Given the description of an element on the screen output the (x, y) to click on. 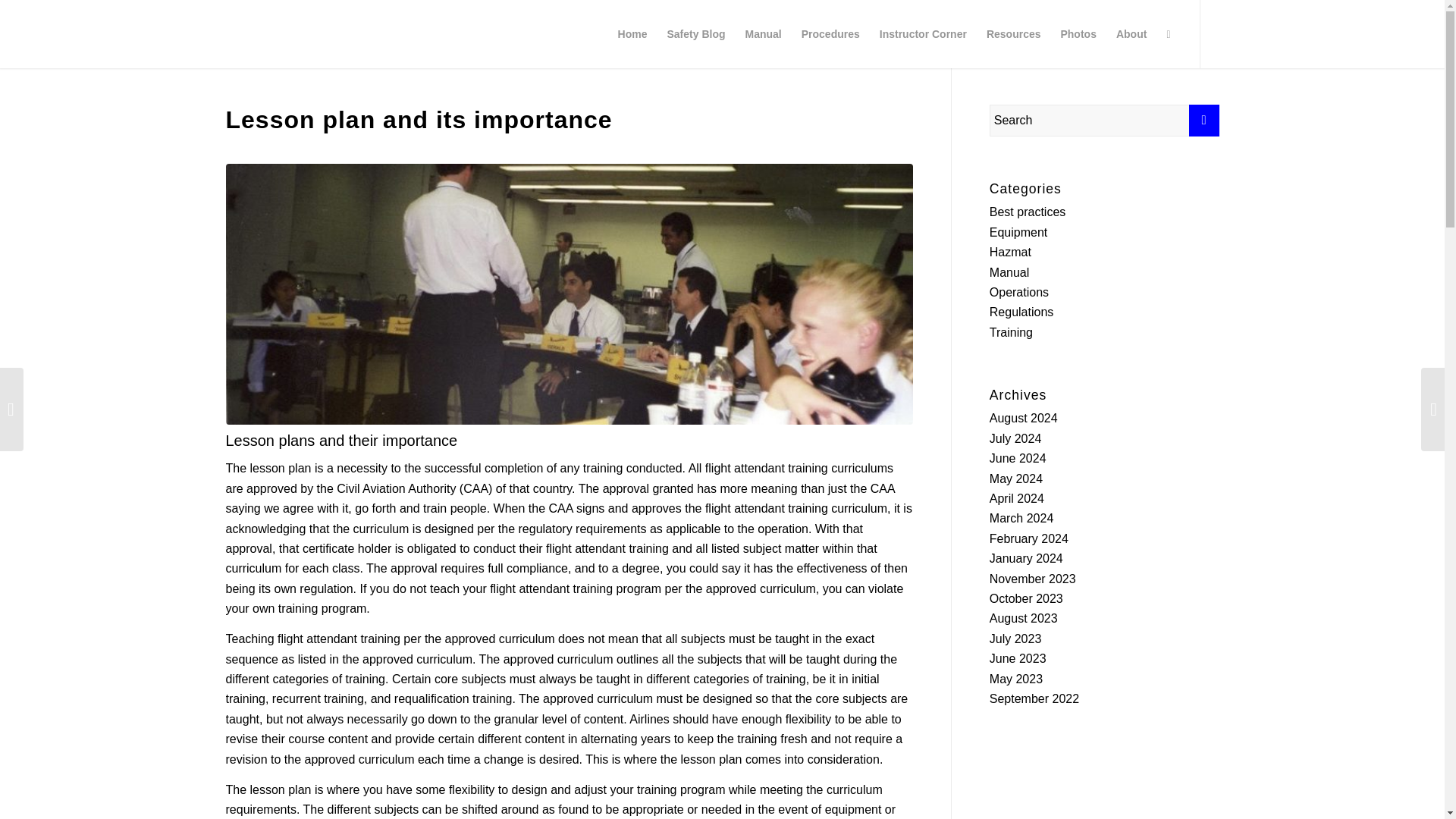
Safety Blog (695, 33)
Resources (1013, 33)
Procedures (830, 33)
Instructor Corner (922, 33)
